Given the description of an element on the screen output the (x, y) to click on. 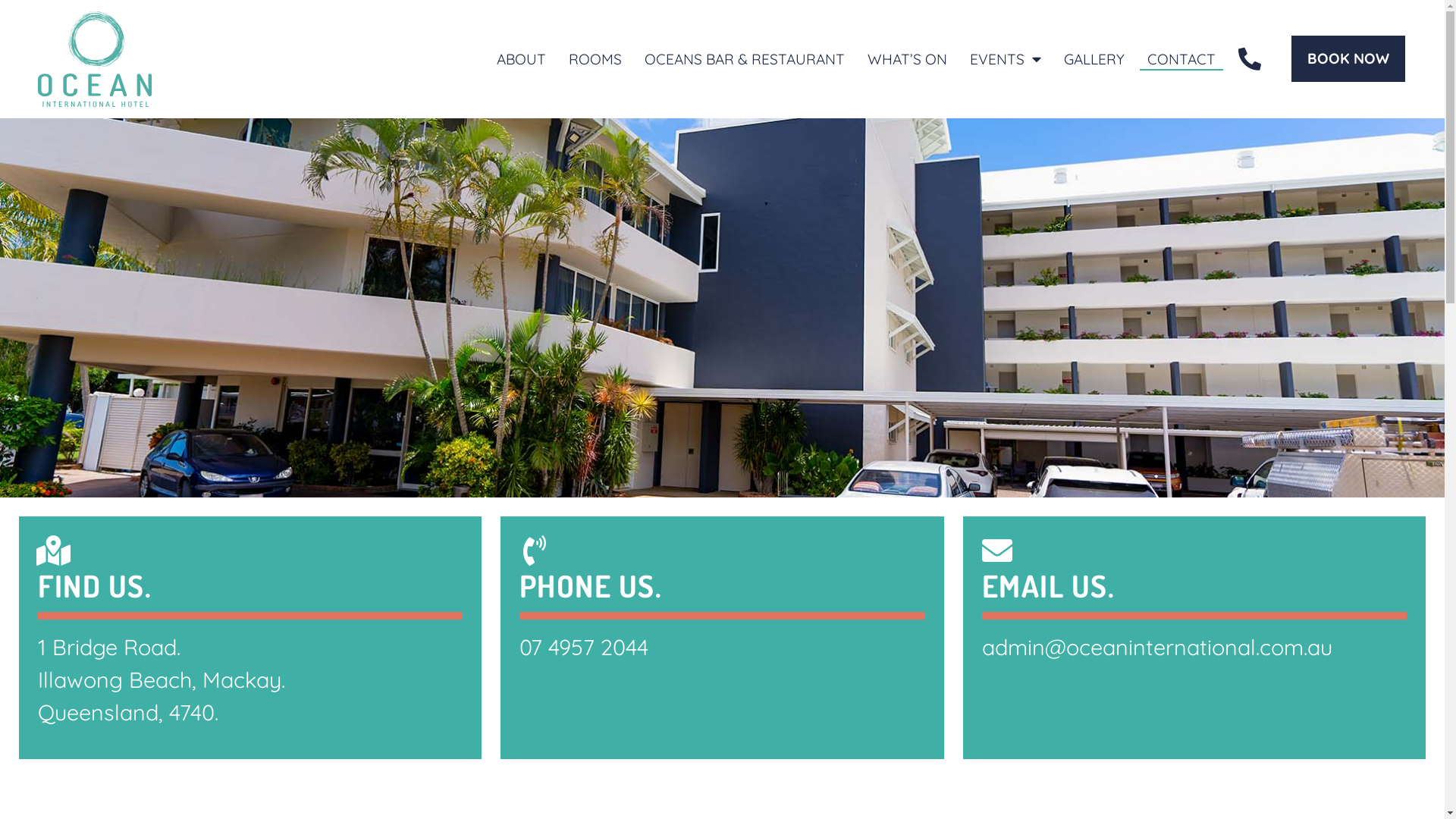
GALLERY Element type: text (1094, 58)
BOOK NOW Element type: text (1348, 58)
admin@oceaninternational.com.au Element type: text (1157, 646)
CONTACT Element type: text (1181, 58)
ROOMS Element type: text (595, 58)
OCEANS BAR & RESTAURANT Element type: text (744, 58)
EVENTS Element type: text (1005, 58)
07 4957 2044 Element type: text (583, 646)
ABOUT Element type: text (521, 58)
